Given the description of an element on the screen output the (x, y) to click on. 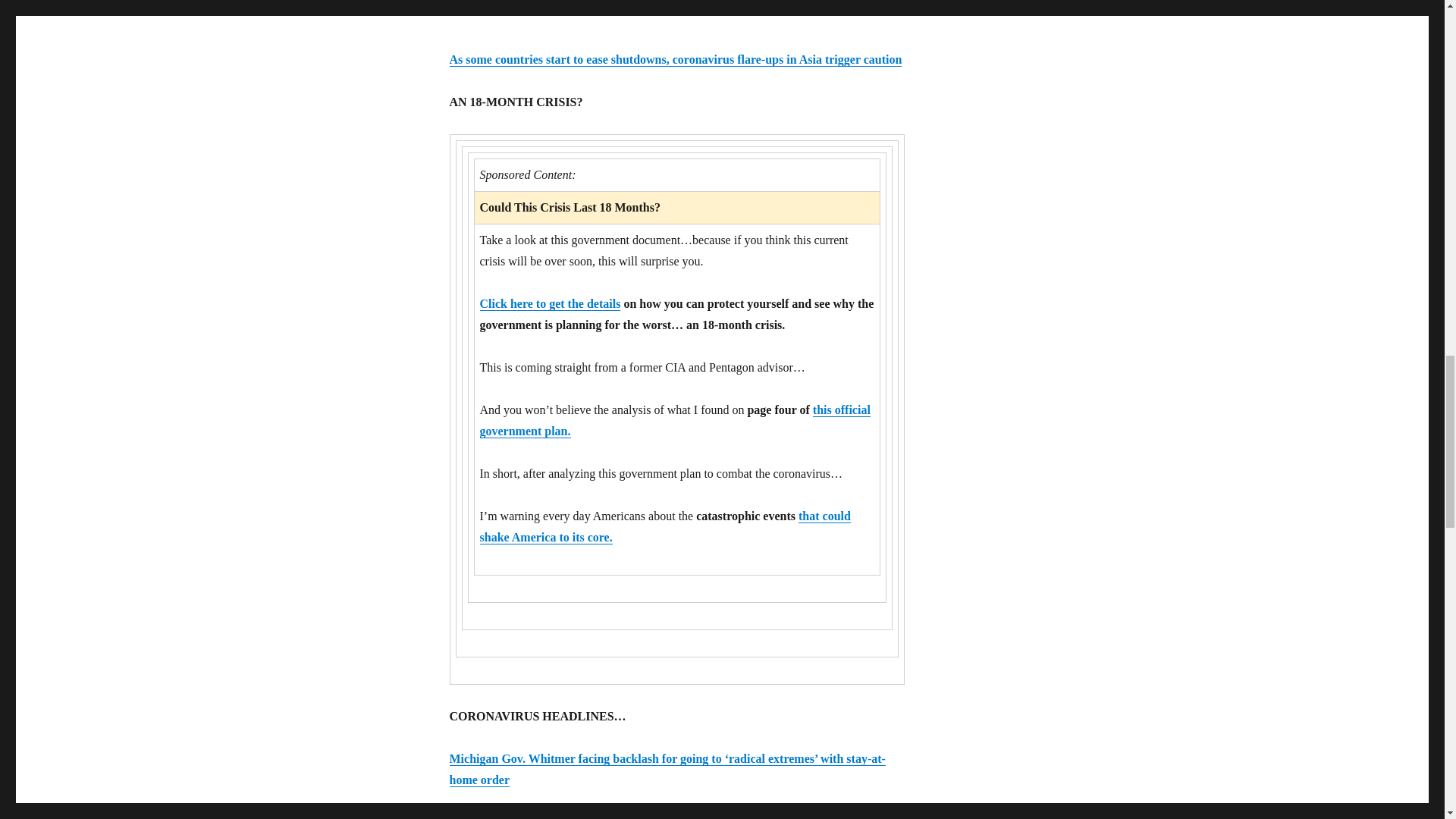
that could shake America to its core. (664, 526)
this official government plan. (674, 420)
Click here to get the details (549, 303)
